Given the description of an element on the screen output the (x, y) to click on. 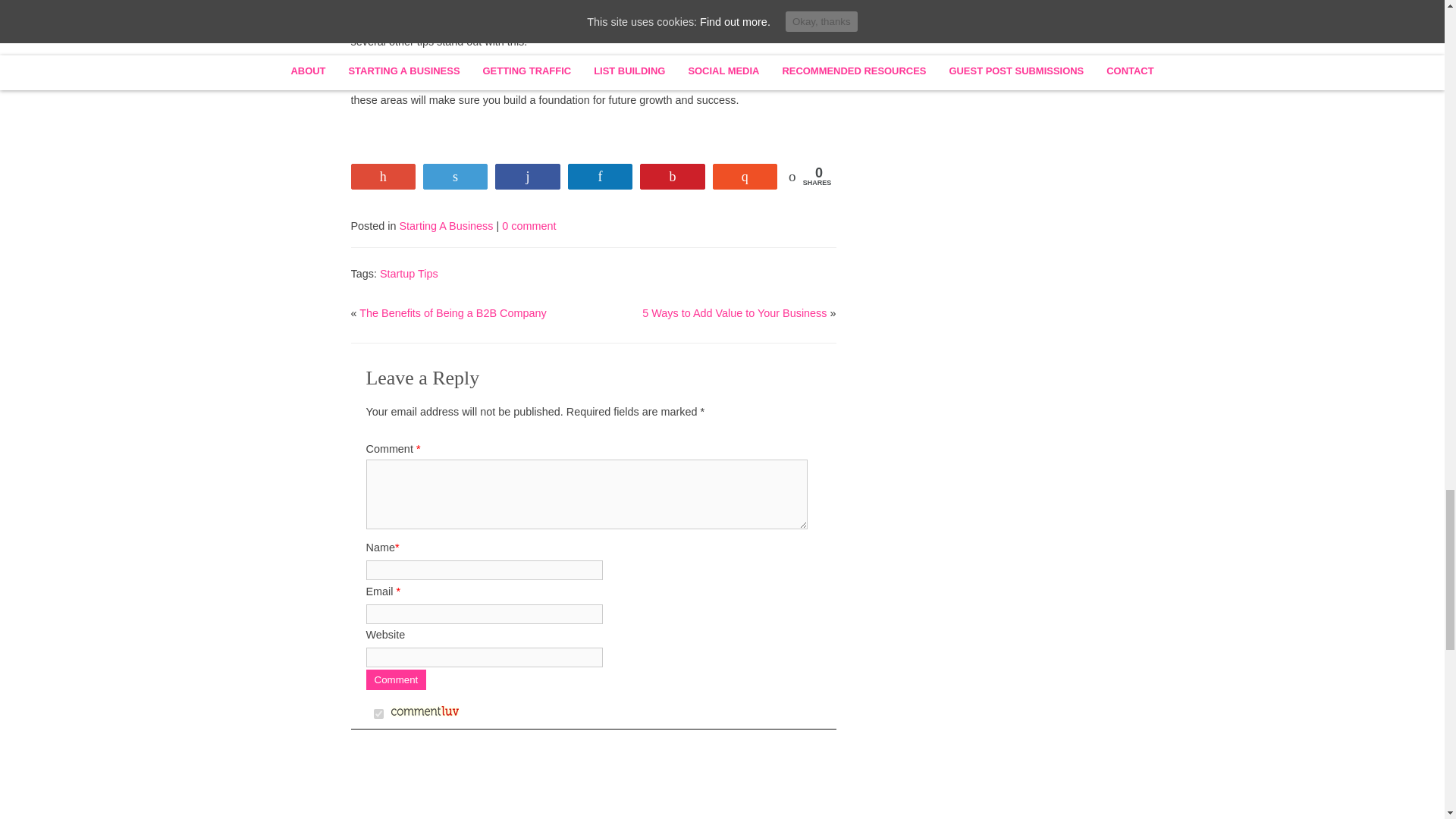
Comment (395, 679)
5 Ways to Add Value to Your Business (734, 313)
Comment (395, 679)
Starting A Business (445, 225)
The Benefits of Being a B2B Company (452, 313)
0 comment (529, 225)
Startup Tips (409, 273)
on (377, 714)
